Given the description of an element on the screen output the (x, y) to click on. 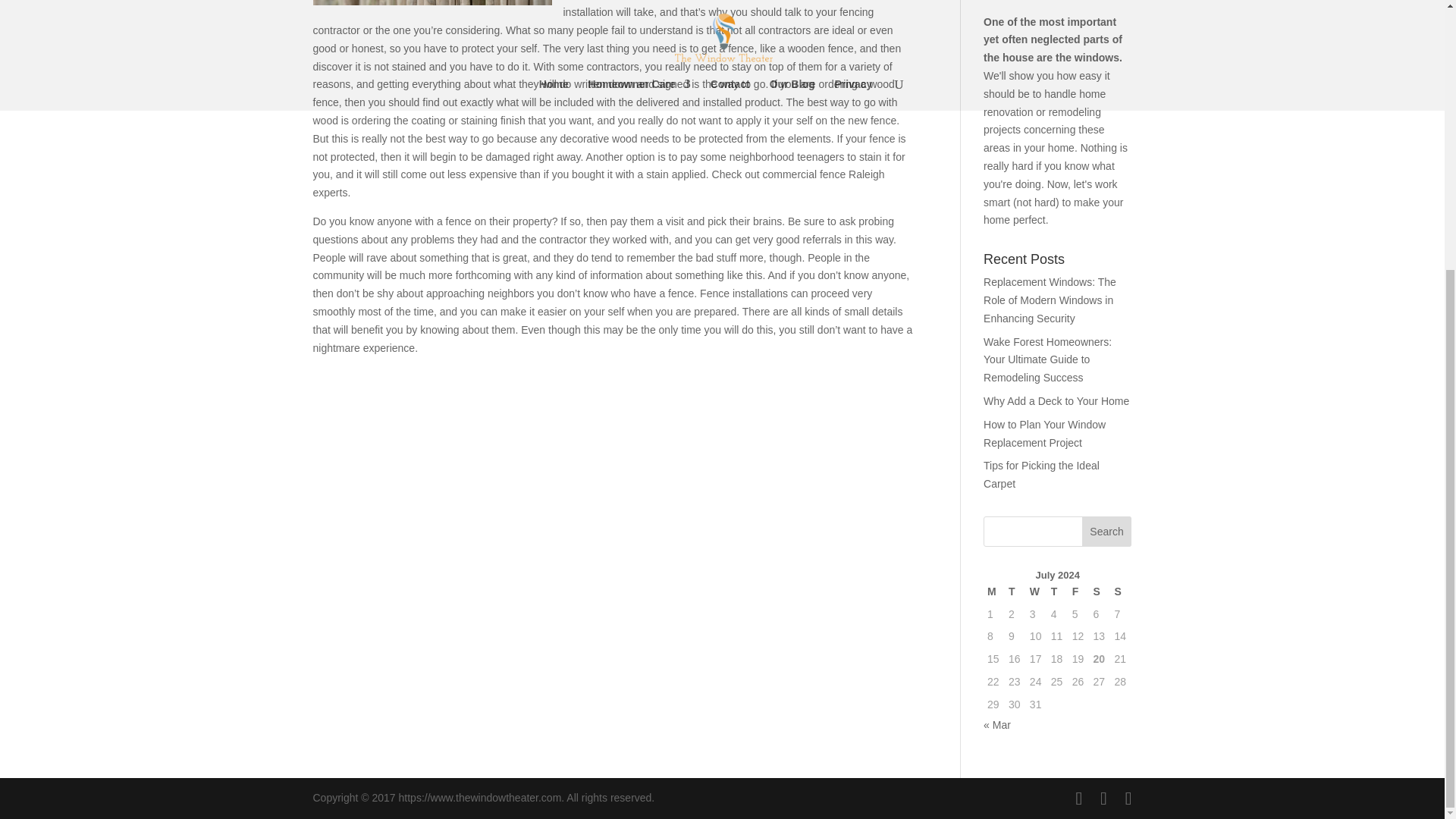
Tips for Picking the Ideal Carpet (1041, 474)
Thursday (1057, 591)
Saturday (1099, 591)
Search (1106, 531)
Friday (1078, 591)
Search (1106, 531)
Tuesday (1015, 591)
Monday (994, 591)
How to Plan Your Window Replacement Project (1044, 433)
Why Add a Deck to Your Home (1056, 400)
Wednesday (1036, 591)
Sunday (1120, 591)
